Given the description of an element on the screen output the (x, y) to click on. 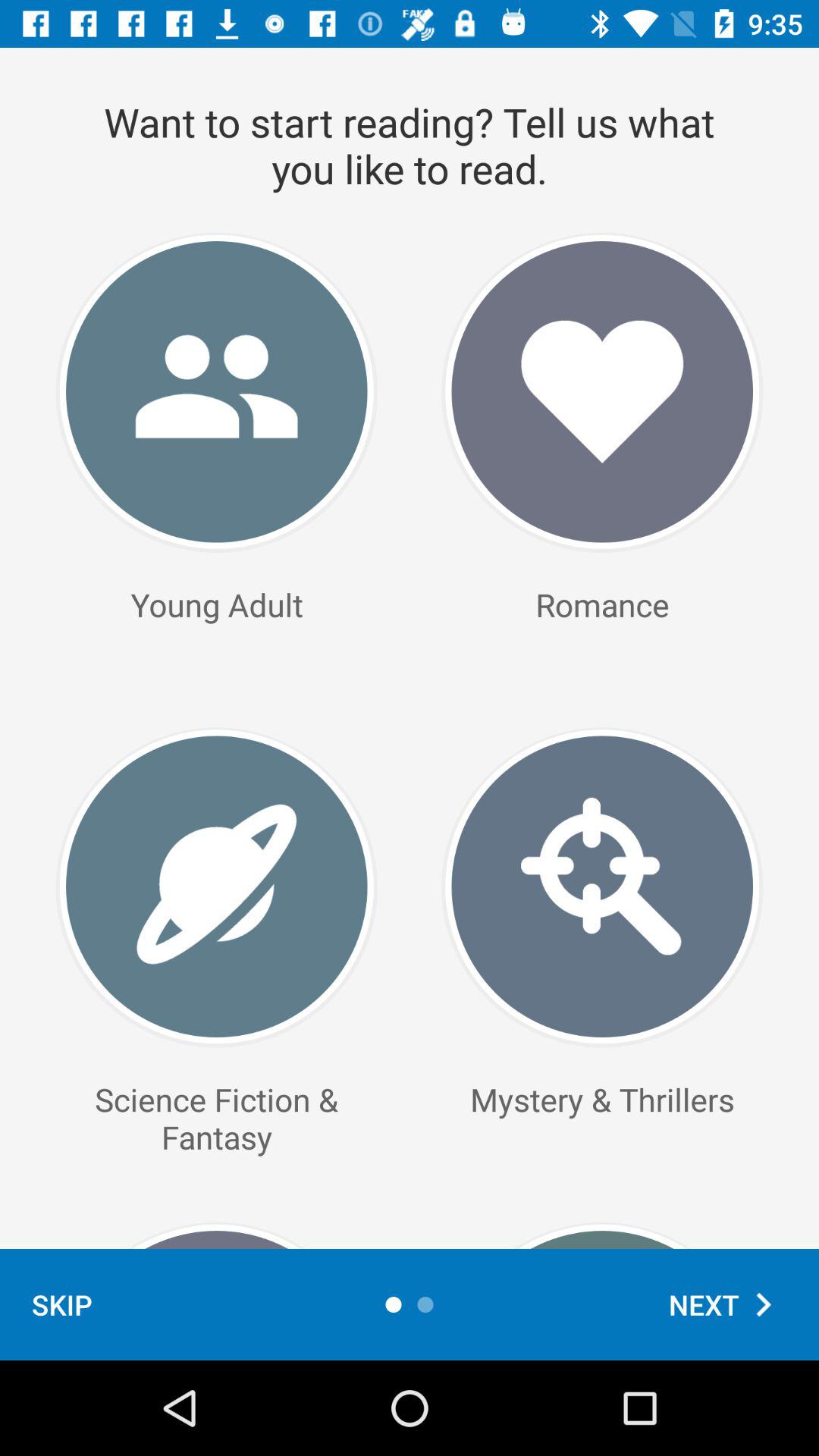
launch icon below science fiction & fantasy item (61, 1304)
